Given the description of an element on the screen output the (x, y) to click on. 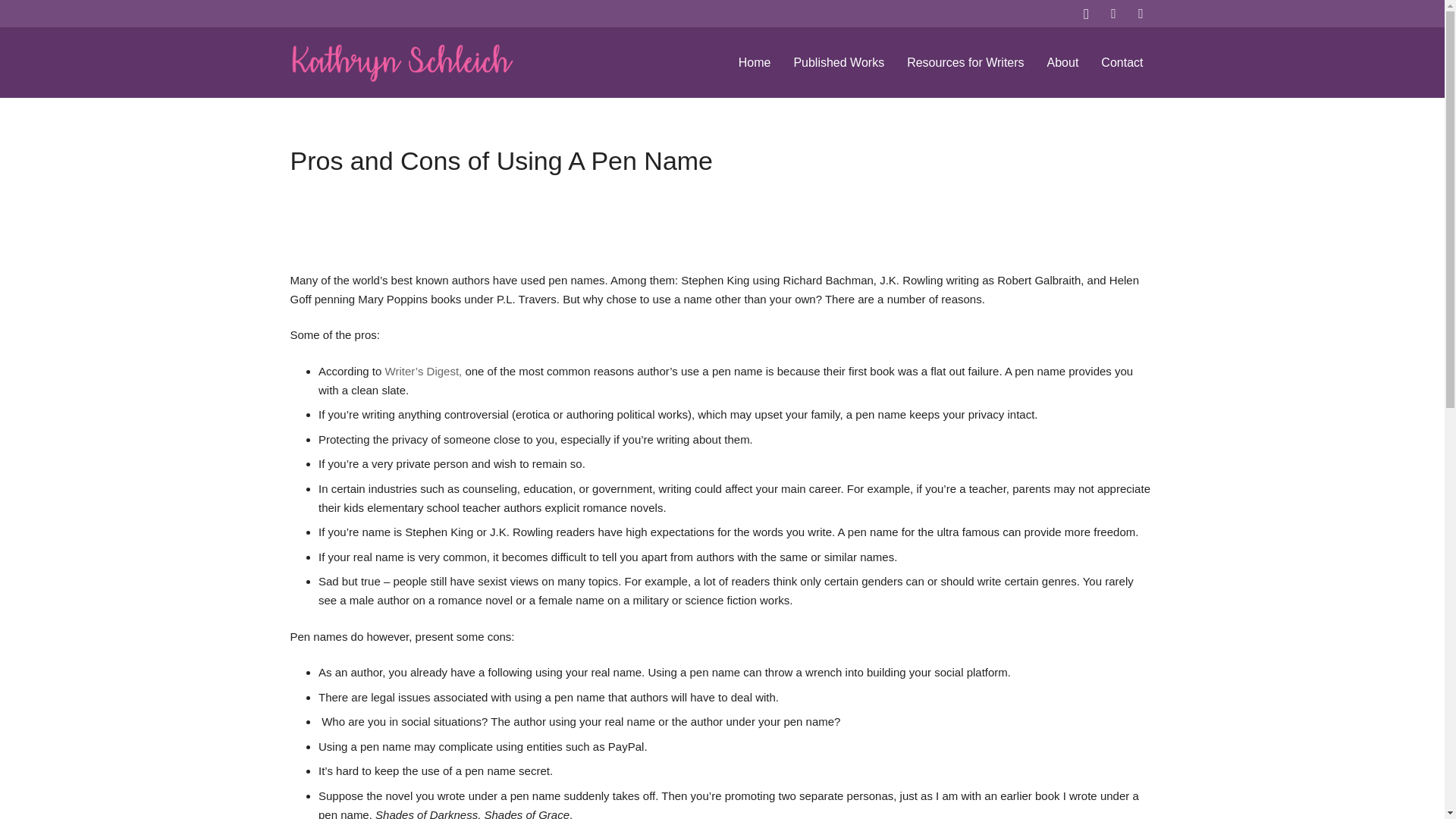
Instagram (1085, 13)
Published Works (838, 62)
LinkedIn (1140, 13)
Contact (1121, 62)
Home (754, 62)
Resources for Writers (965, 62)
About (1062, 62)
Facebook (1112, 13)
